Given the description of an element on the screen output the (x, y) to click on. 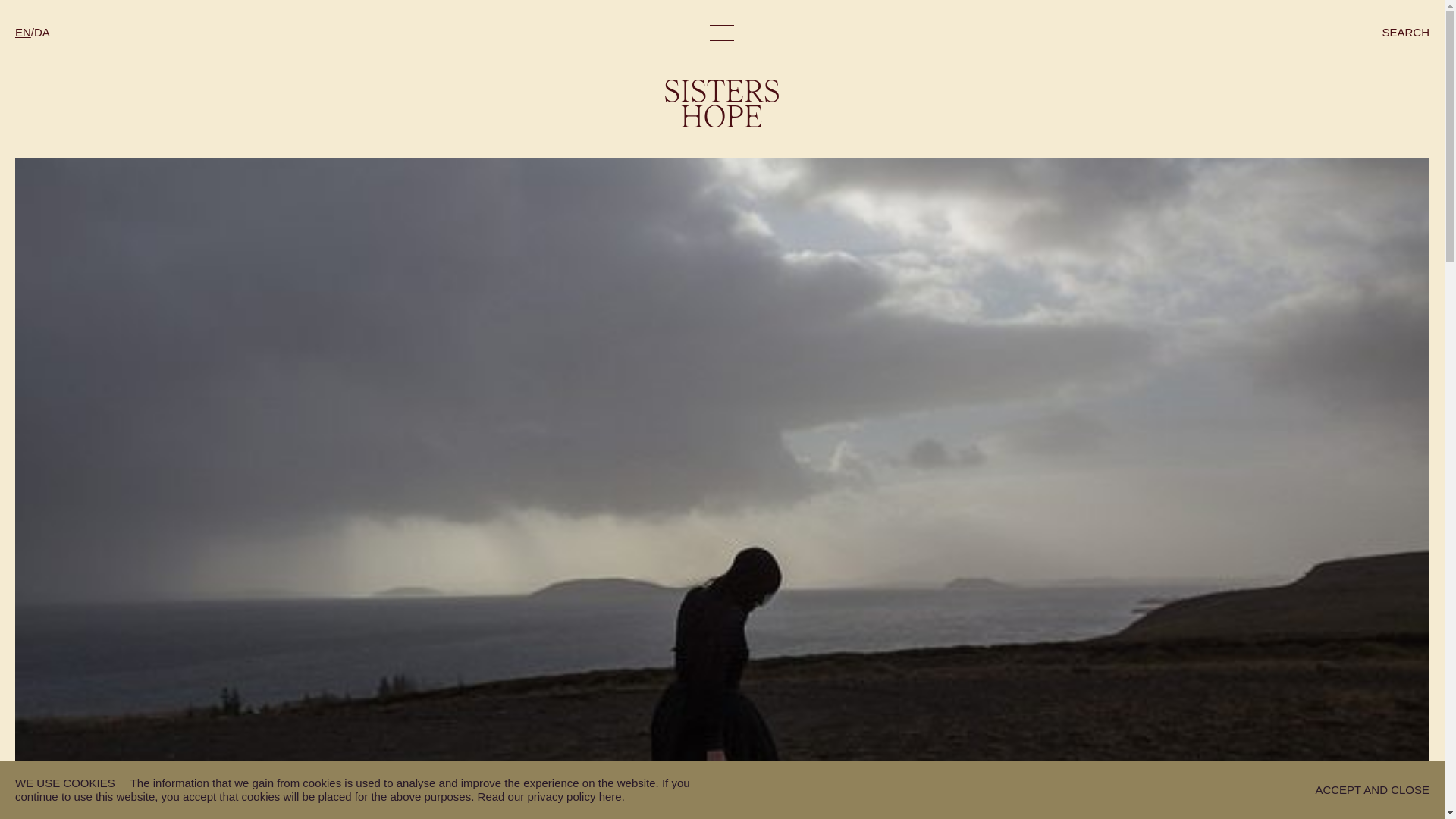
DA (41, 31)
SEARCH (1405, 31)
EN (22, 31)
Privacy Policy (609, 796)
ACCEPT AND CLOSE (1371, 789)
here (609, 796)
